Given the description of an element on the screen output the (x, y) to click on. 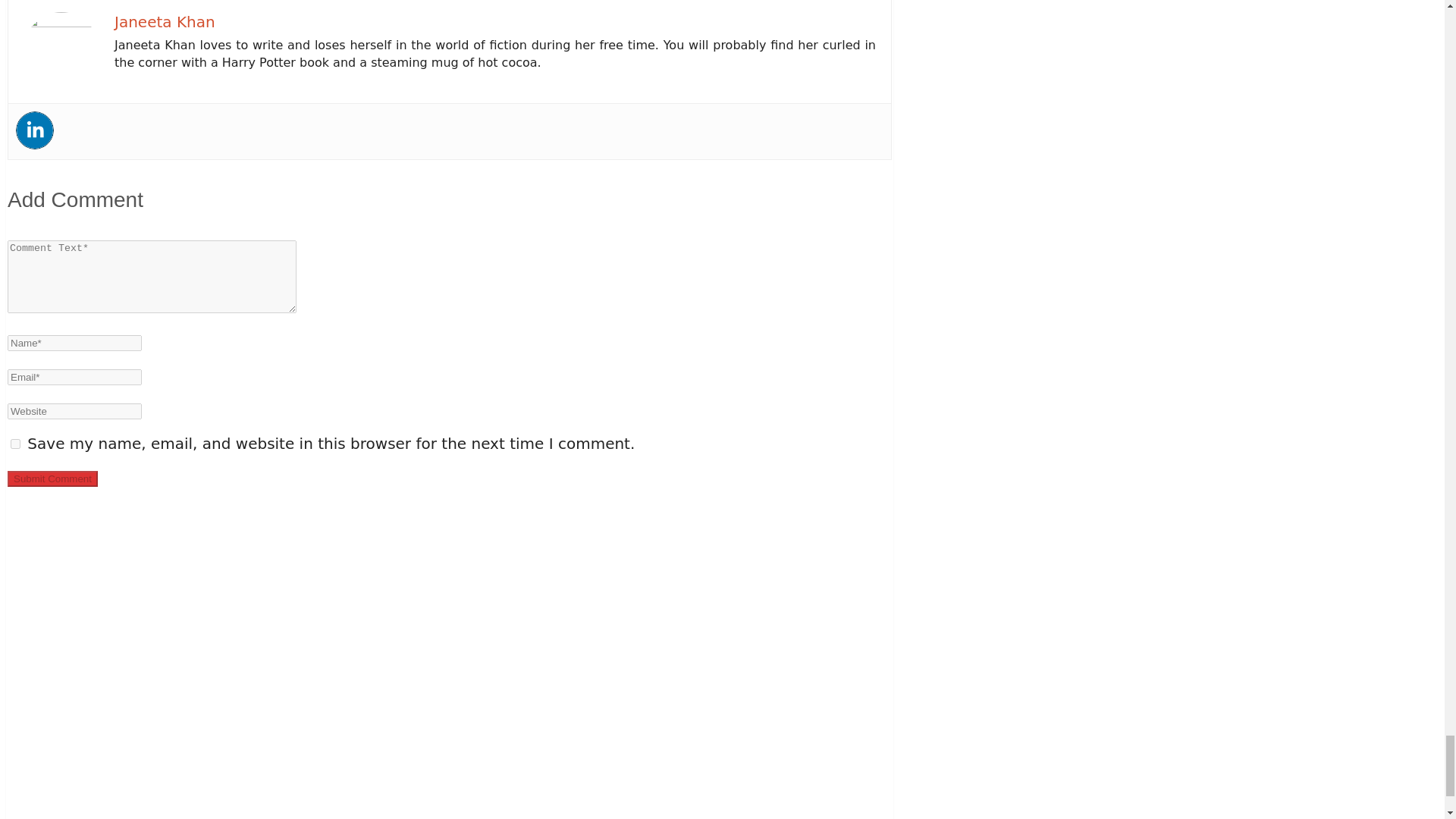
yes (15, 443)
Submit Comment (52, 478)
